Given the description of an element on the screen output the (x, y) to click on. 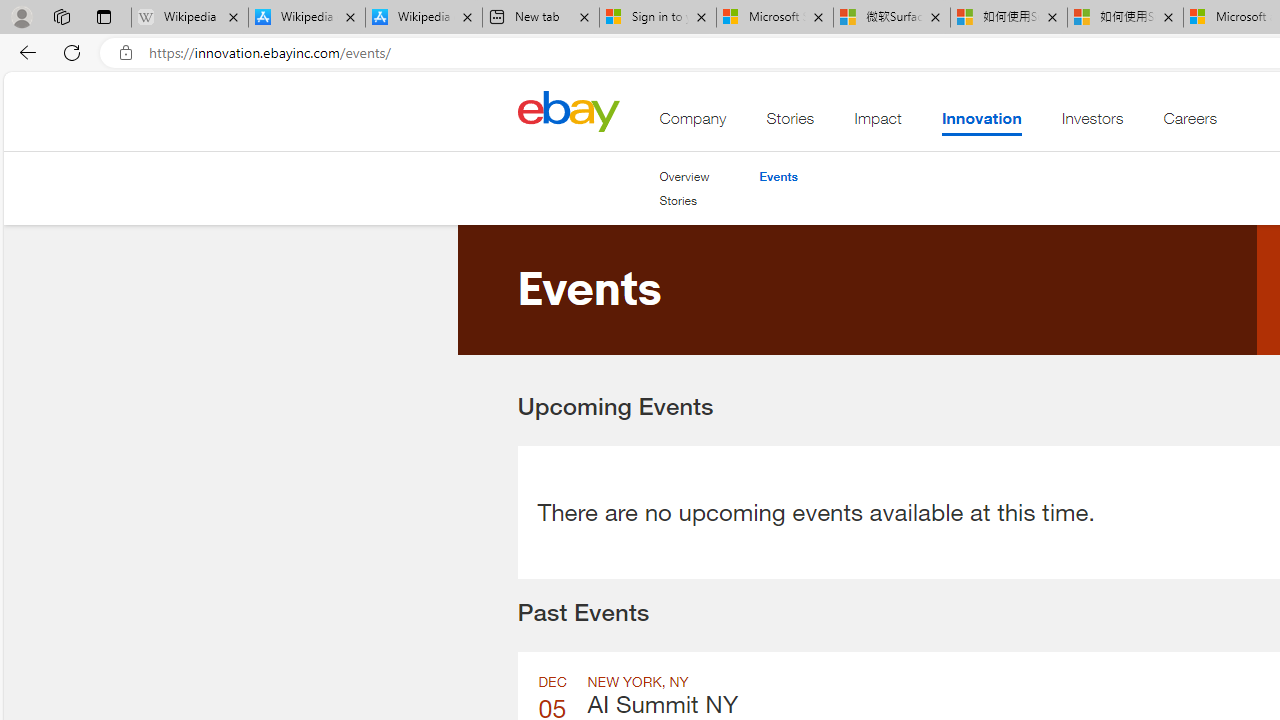
Innovation . This is the current section. (980, 123)
Company (693, 123)
Innovation (980, 123)
Events (778, 176)
Stories (684, 201)
Company (693, 123)
Careers (1190, 123)
Impact (877, 123)
